Given the description of an element on the screen output the (x, y) to click on. 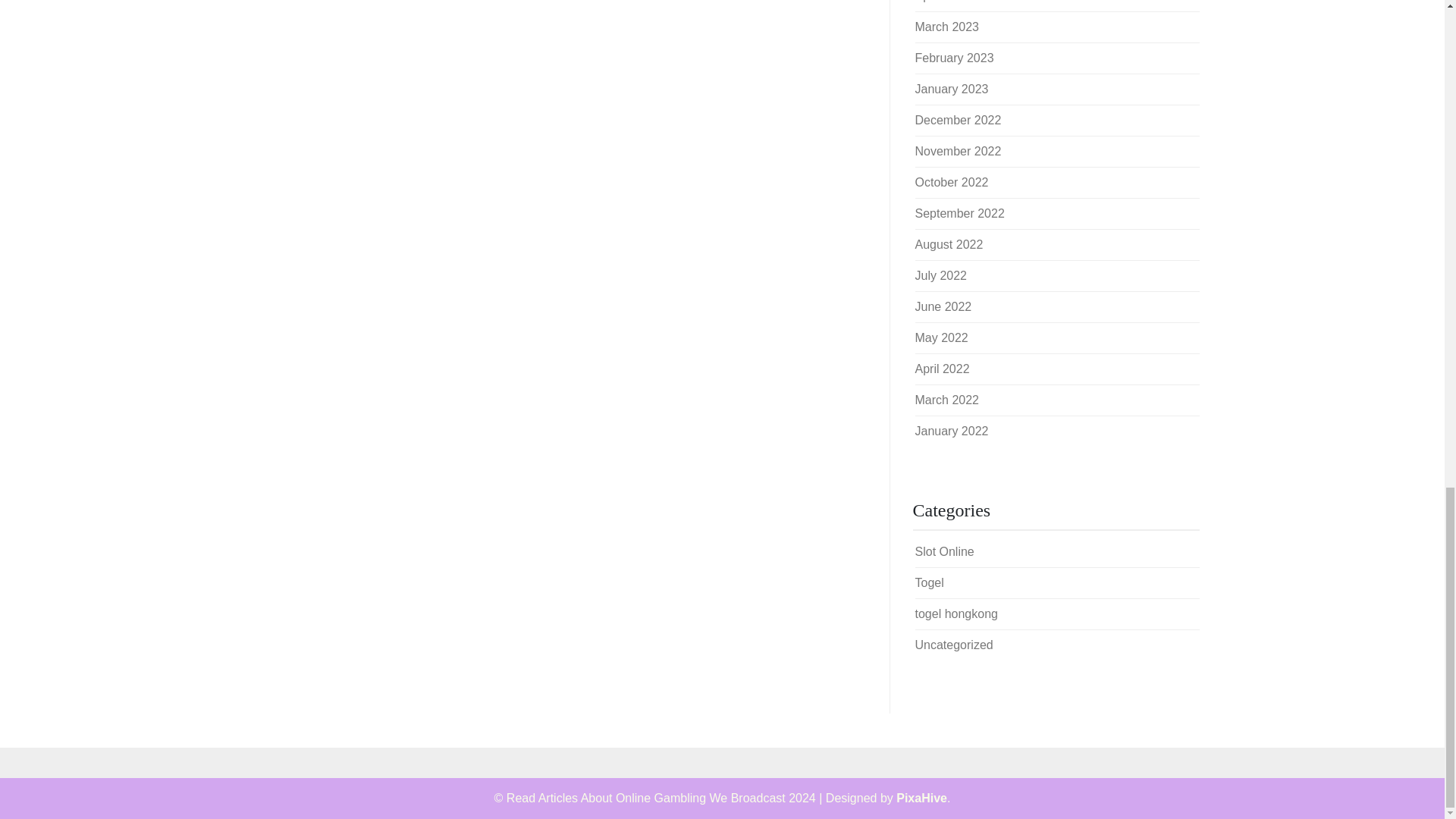
December 2022 (957, 119)
February 2023 (953, 57)
April 2023 (941, 1)
January 2023 (951, 88)
March 2023 (946, 26)
